Given the description of an element on the screen output the (x, y) to click on. 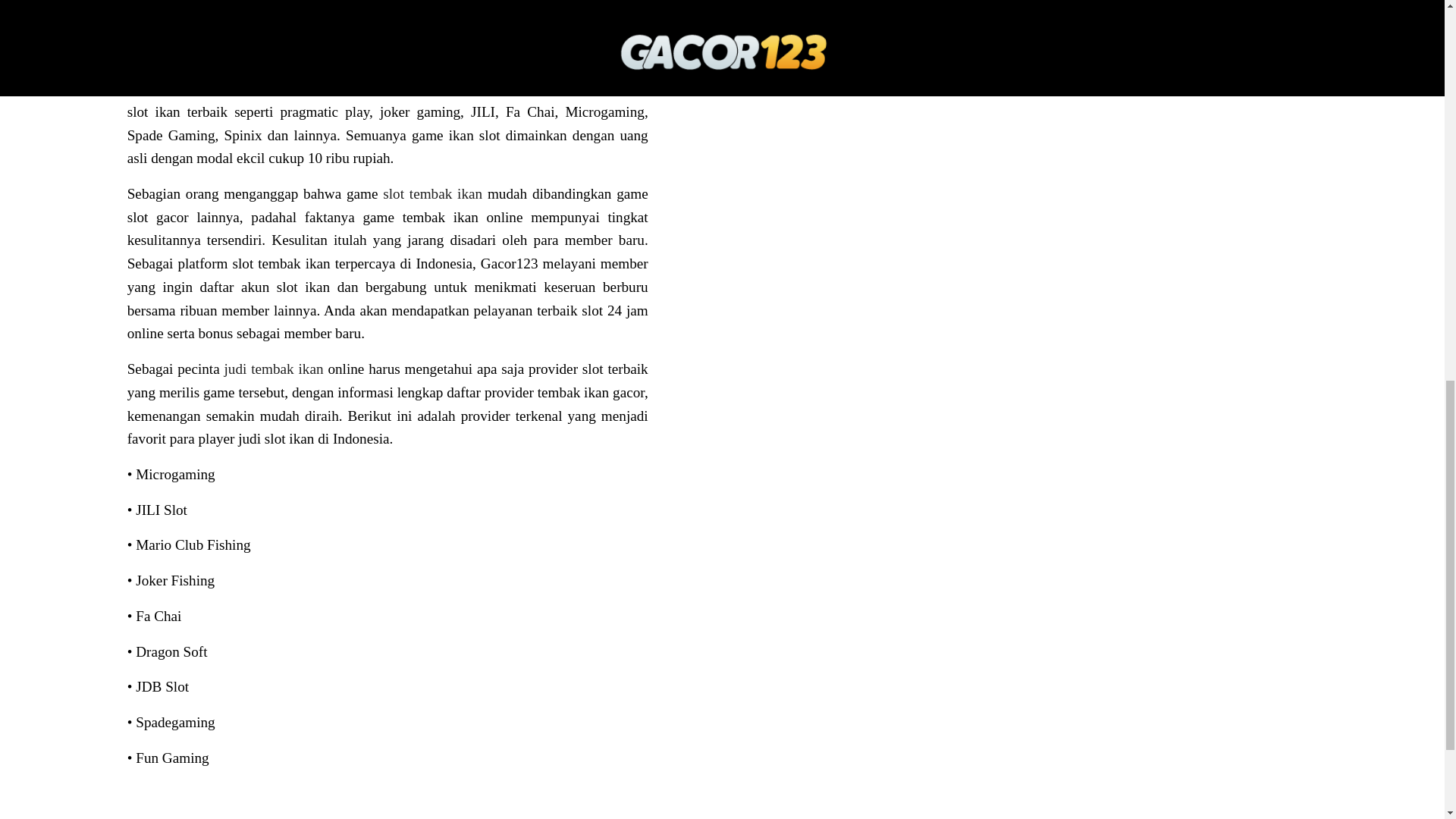
slot tembak ikan (431, 193)
judi tembak ikan (273, 368)
tembak ikan slot (373, 88)
